Given the description of an element on the screen output the (x, y) to click on. 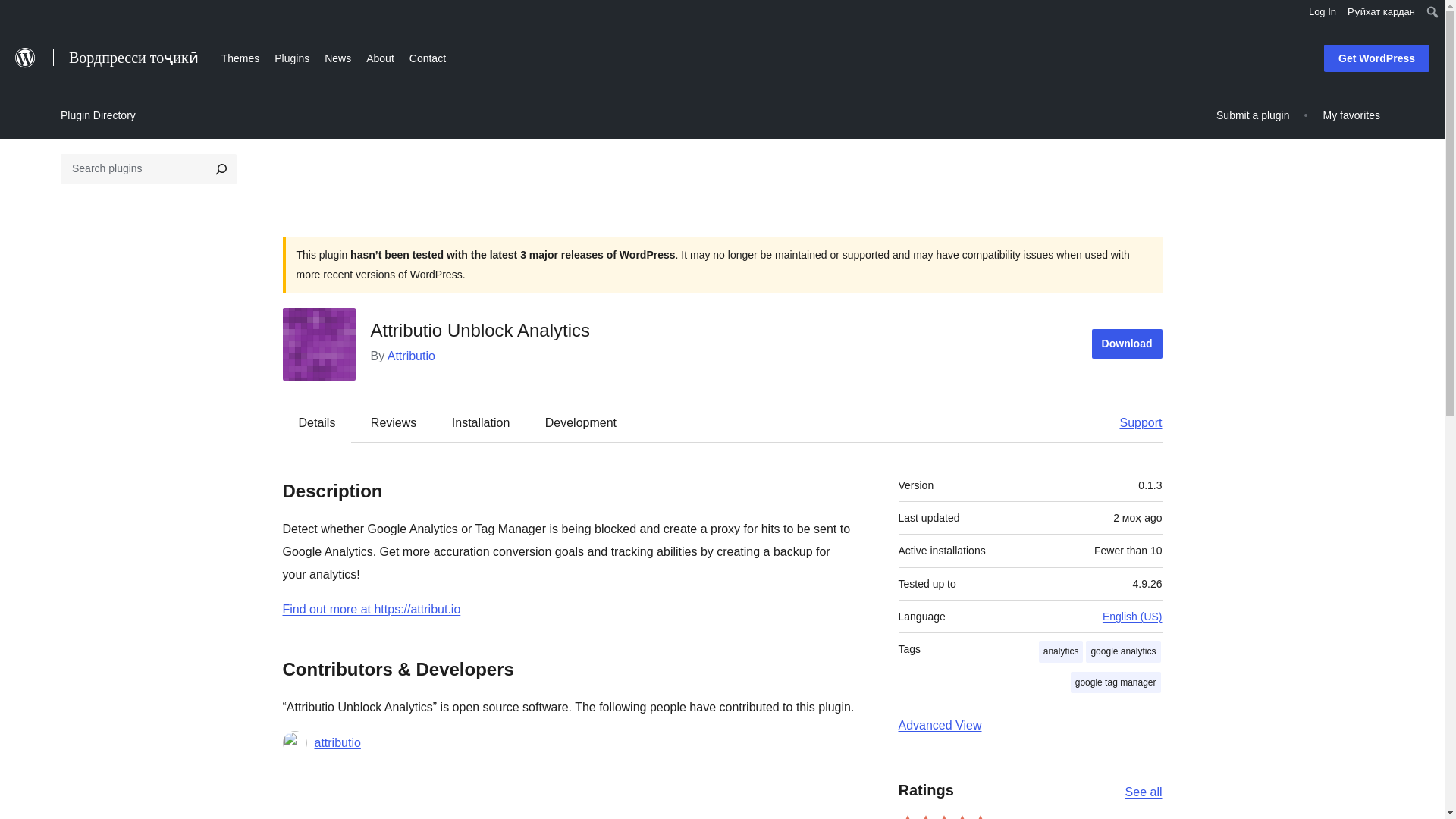
attributio (336, 743)
Details (316, 422)
Attributio (411, 355)
Get WordPress (1376, 58)
Log In (1322, 12)
Reviews (392, 422)
Support (1132, 422)
My favorites (1351, 115)
Development (580, 422)
Submit a plugin (1253, 115)
